Given the description of an element on the screen output the (x, y) to click on. 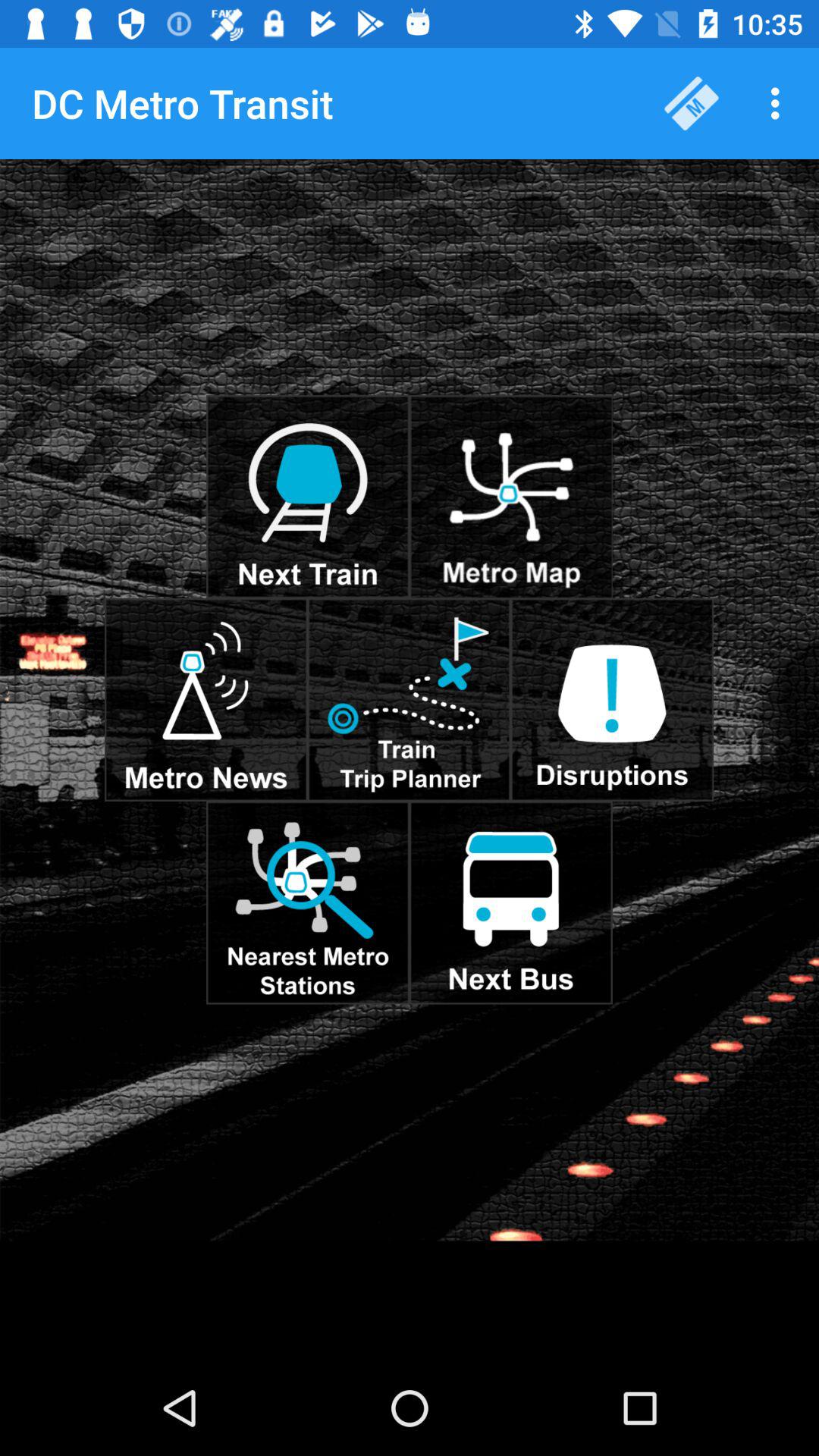
check nearest metro stations (307, 902)
